Given the description of an element on the screen output the (x, y) to click on. 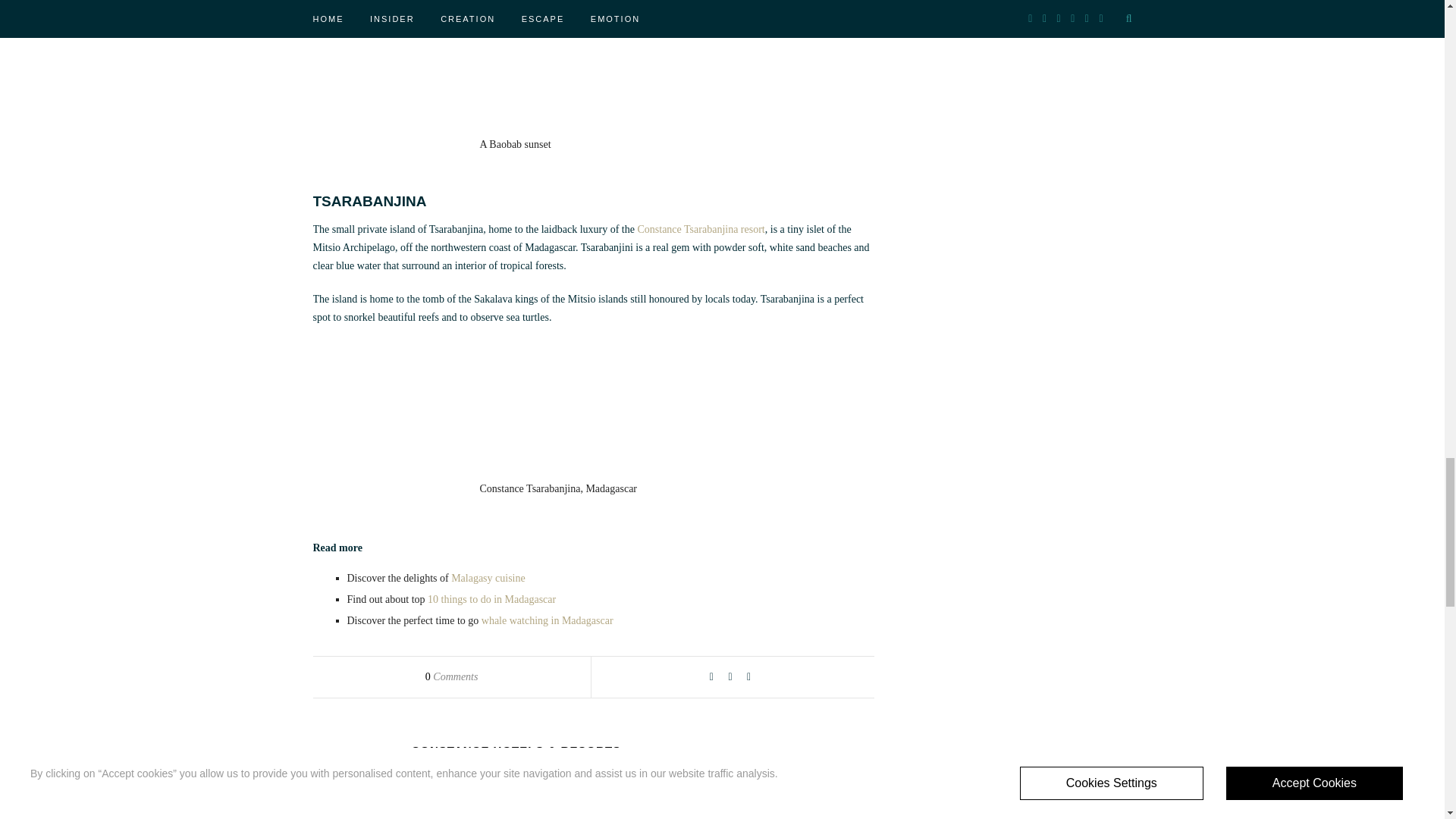
0 Comments (452, 676)
whale watching in Madagascar (546, 620)
Constance Tsarabanjina resort (700, 229)
10 things to do in Madagascar (492, 599)
Malagasy cuisine (488, 577)
